Given the description of an element on the screen output the (x, y) to click on. 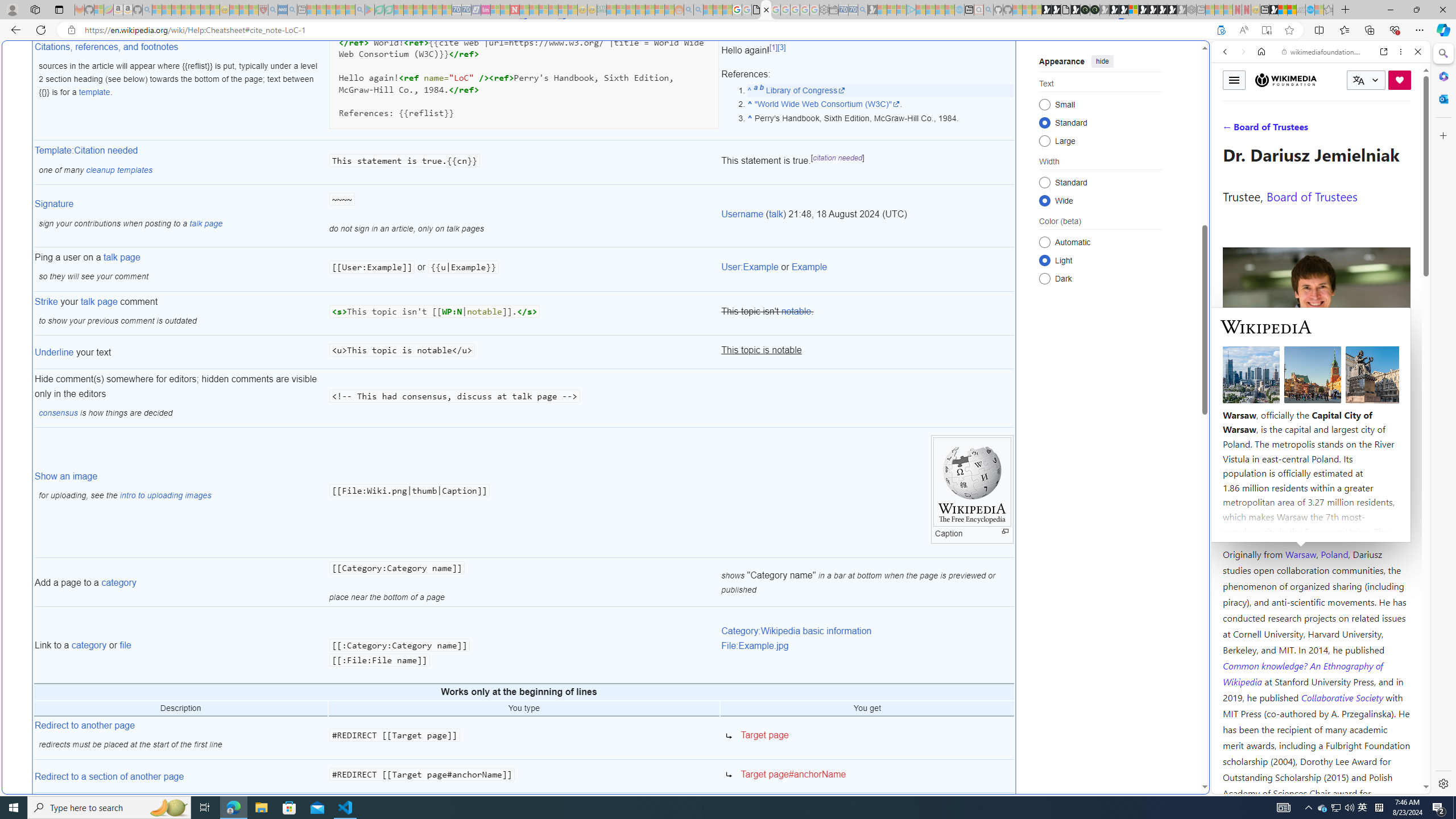
Class: mw-file-element (729, 774)
Target page#anchorName (793, 773)
Citations, references, and footnotes (106, 46)
Link to a category or file (180, 645)
